Given the description of an element on the screen output the (x, y) to click on. 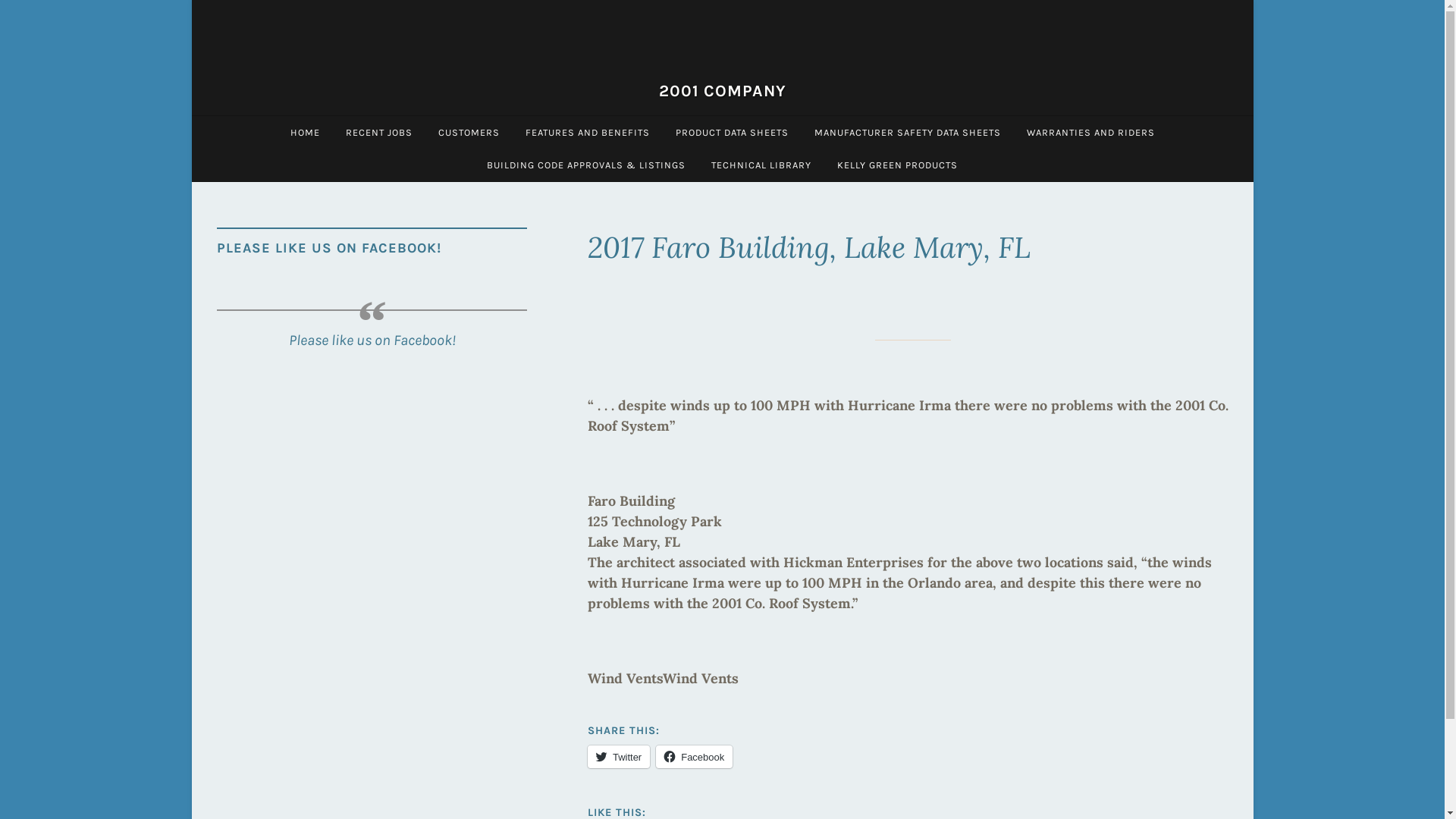
PRODUCT DATA SHEETS Element type: text (732, 132)
WARRANTIES AND RIDERS Element type: text (1089, 132)
TECHNICAL LIBRARY Element type: text (760, 164)
Please like us on Facebook! Element type: text (371, 339)
CUSTOMERS Element type: text (468, 132)
FEATURES AND BENEFITS Element type: text (587, 132)
PLEASE LIKE US ON FACEBOOK! Element type: text (328, 247)
Facebook Element type: text (693, 756)
2001 COMPANY Element type: text (721, 90)
RECENT JOBS Element type: text (378, 132)
Twitter Element type: text (618, 756)
MANUFACTURER SAFETY DATA SHEETS Element type: text (906, 132)
HOME Element type: text (305, 132)
KELLY GREEN PRODUCTS Element type: text (897, 164)
BUILDING CODE APPROVALS & LISTINGS Element type: text (585, 164)
